Given the description of an element on the screen output the (x, y) to click on. 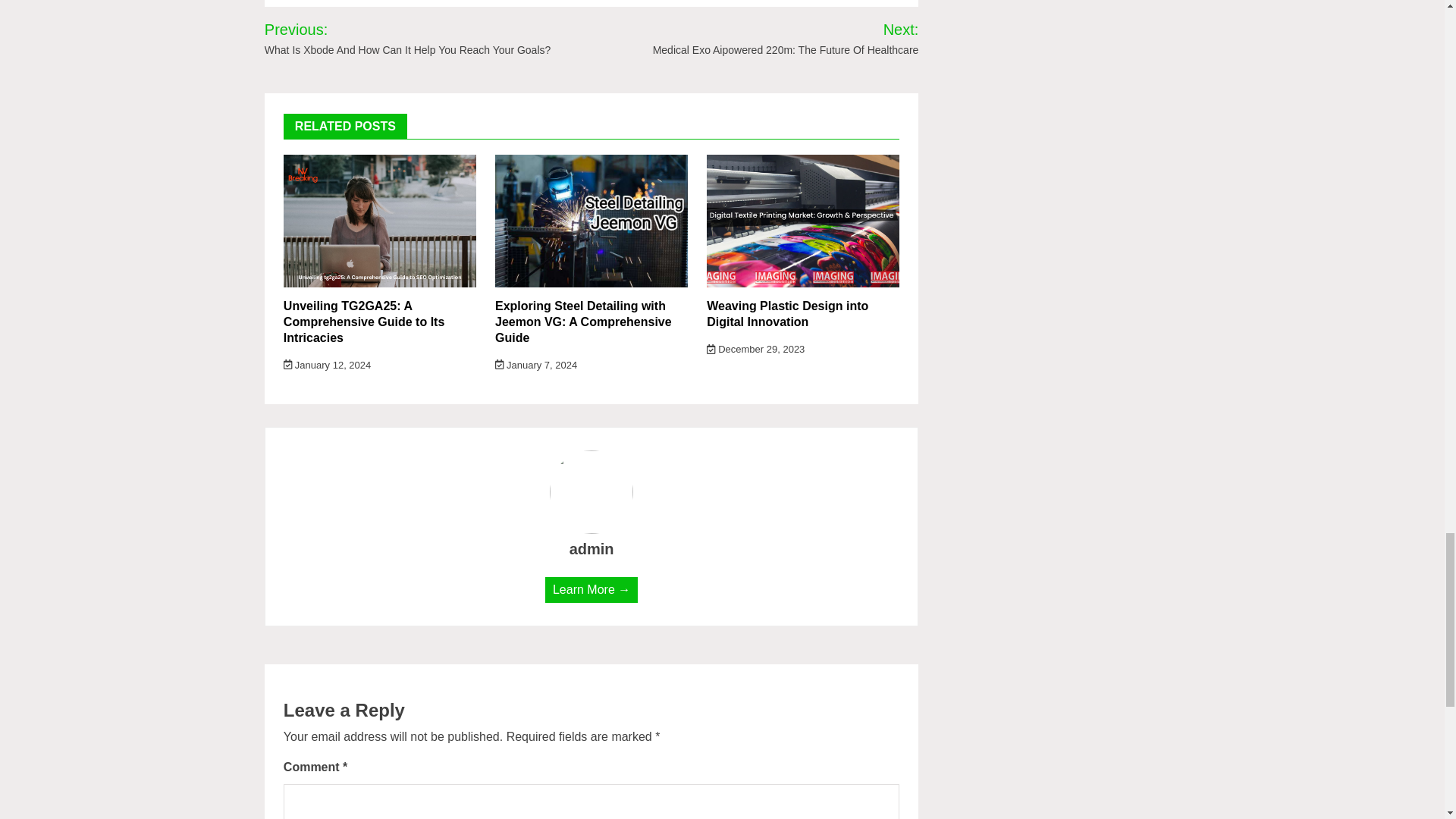
Unveiling TG2GA25: A Comprehensive Guide to Its Intricacies (363, 321)
Next: Medical Exo Aipowered 220m: The Future Of Healthcare (766, 38)
January 7, 2024 (535, 365)
January 12, 2024 (327, 365)
December 29, 2023 (755, 348)
Weaving Plastic Design into Digital Innovation (786, 313)
